Given the description of an element on the screen output the (x, y) to click on. 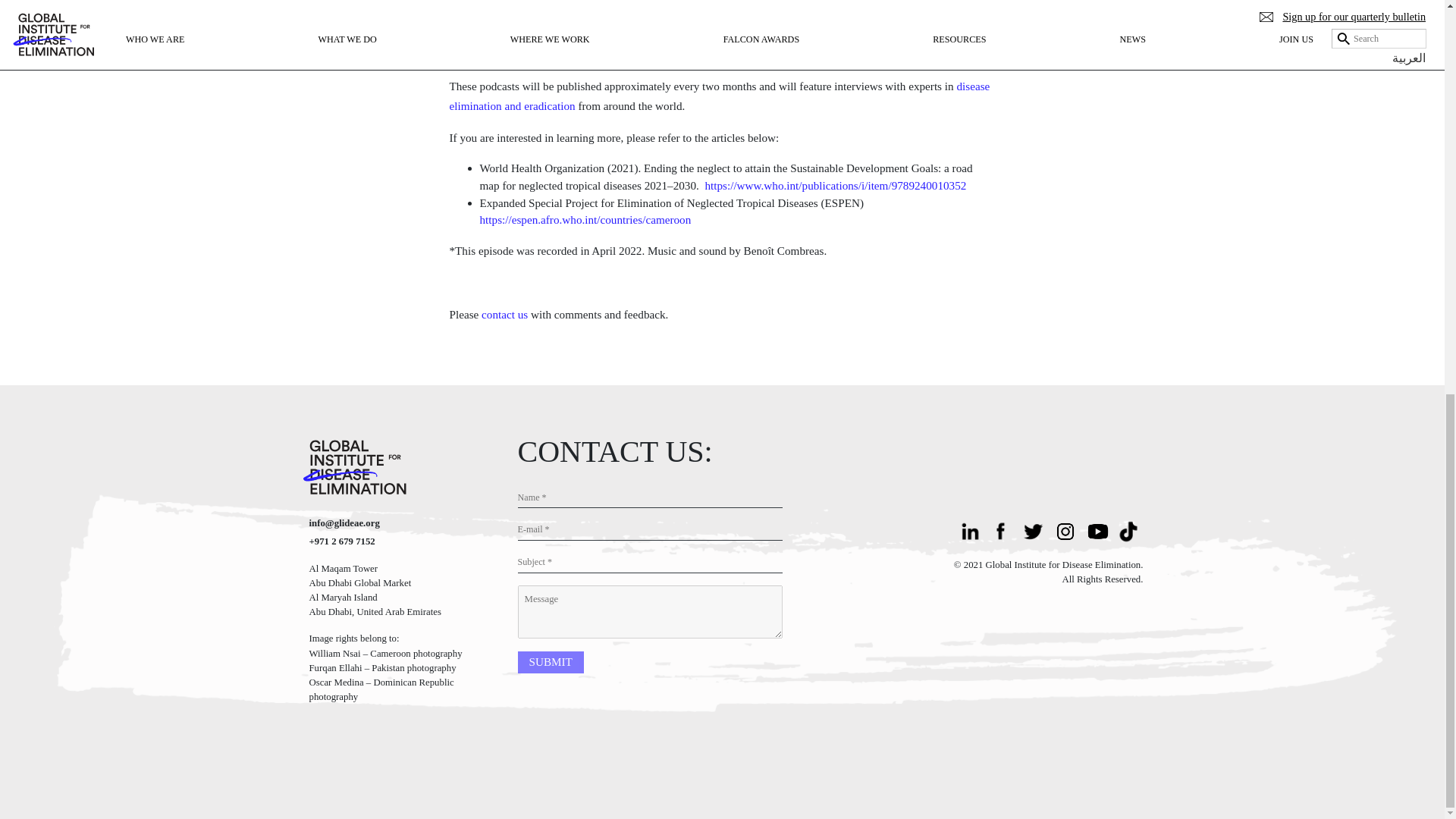
icon-twitter (1035, 529)
GLIDE pin (1067, 529)
SUBMIT (549, 662)
icon-faccebook (1003, 529)
icon-linkedin (971, 529)
Untitled design (1099, 529)
